Given the description of an element on the screen output the (x, y) to click on. 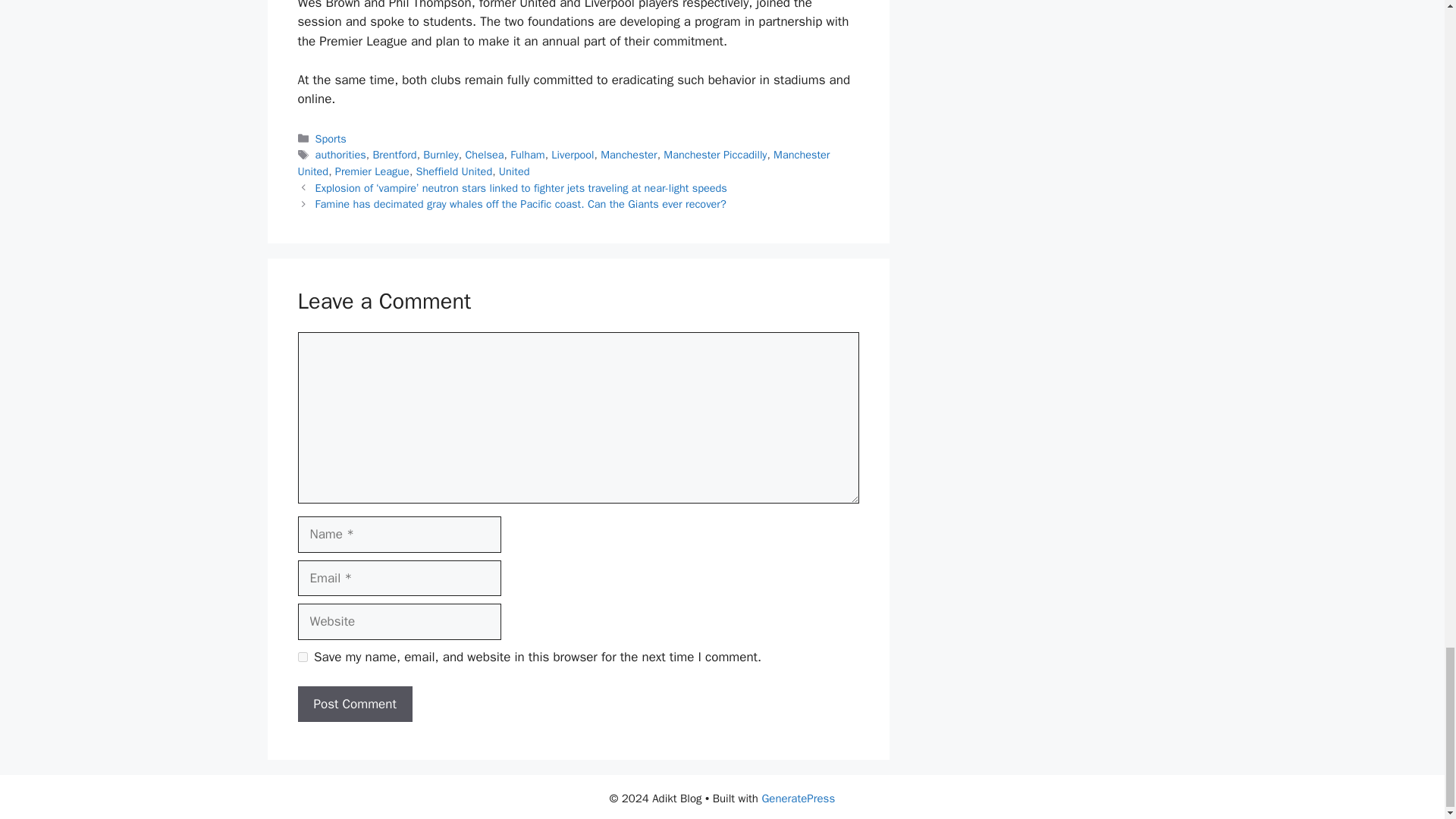
yes (302, 656)
Brentford (394, 154)
Manchester United (563, 163)
Post Comment (354, 704)
authorities (340, 154)
Premier League (371, 171)
Chelsea (483, 154)
United (514, 171)
Fulham (527, 154)
